Given the description of an element on the screen output the (x, y) to click on. 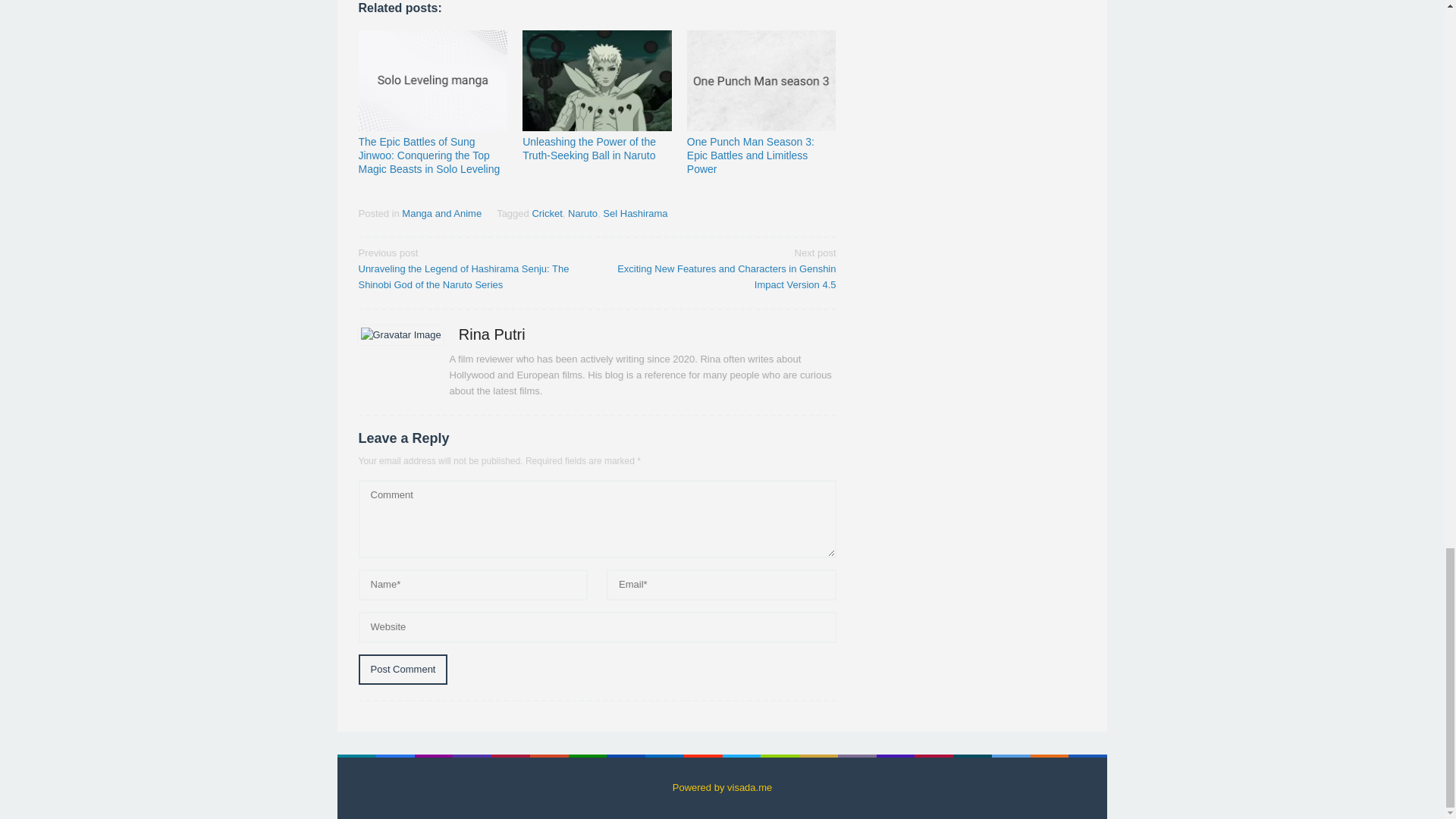
One Punch Man Season 3: Epic Battles and Limitless Power (750, 155)
Gravatar (400, 335)
Sel Hashirama (634, 213)
Post Comment (402, 669)
Naruto (581, 213)
